Given the description of an element on the screen output the (x, y) to click on. 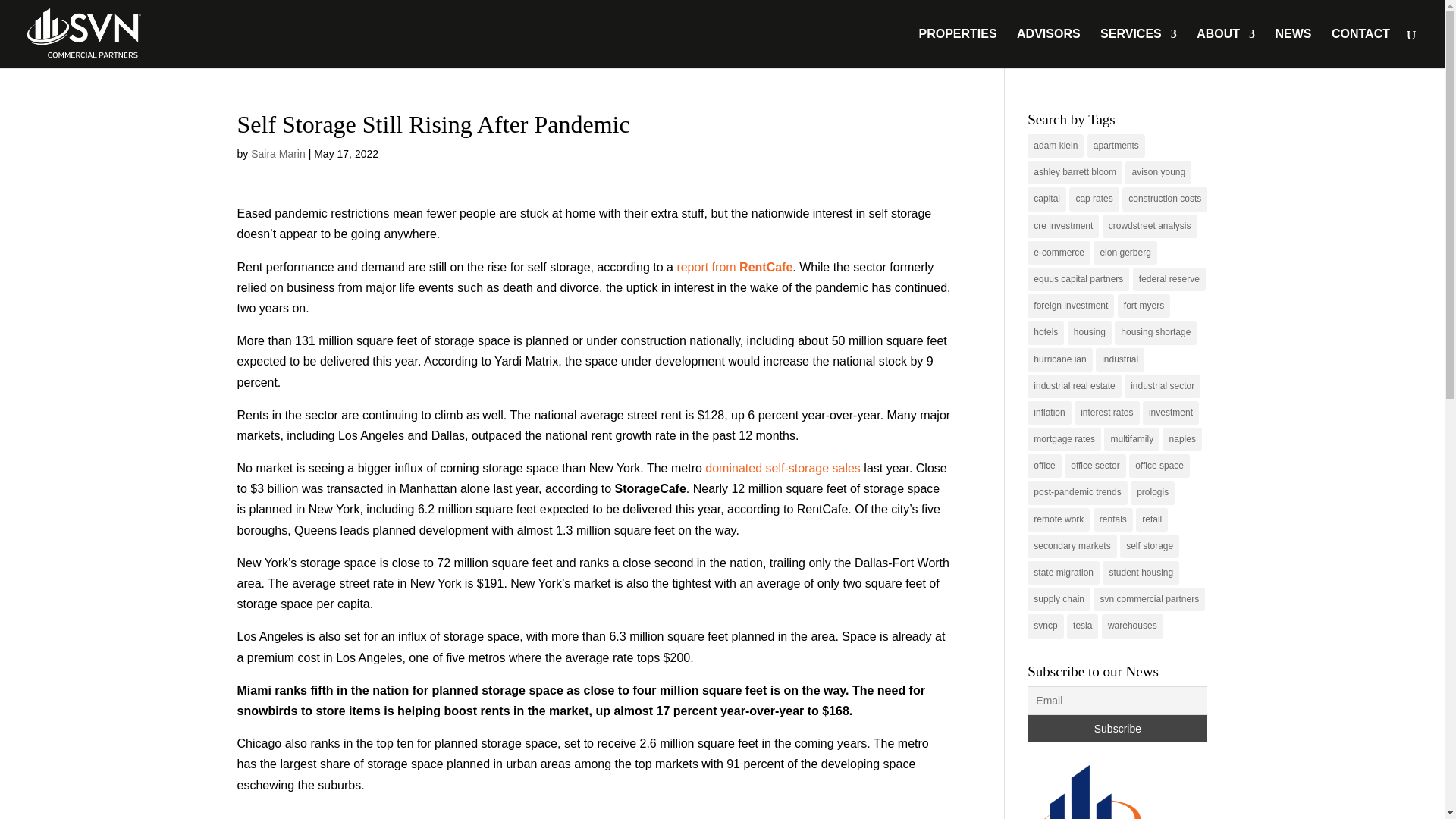
ashley barrett bloom (1074, 172)
Posts by Saira Marin (277, 153)
PROPERTIES (956, 47)
housing (1089, 332)
cre investment (1063, 226)
federal reserve (1168, 279)
cap rates (1093, 198)
crowdstreet analysis (1149, 226)
Saira Marin (277, 153)
ADVISORS (1048, 47)
SERVICES (1138, 47)
NEWS (1293, 47)
industrial real estate (1074, 386)
dominated self-storage sales (782, 468)
e-commerce (1058, 252)
